Given the description of an element on the screen output the (x, y) to click on. 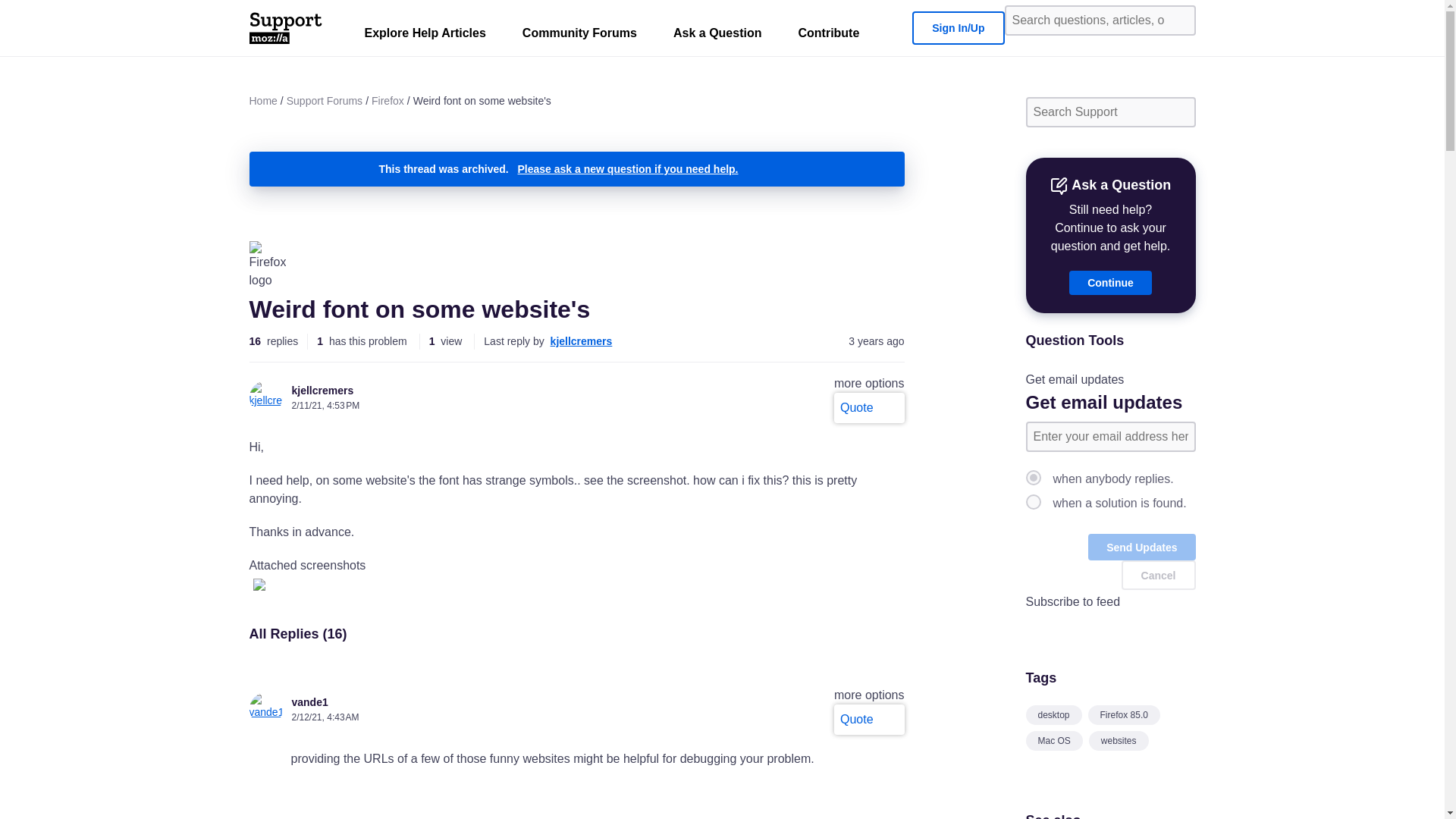
Ask a Question (716, 37)
Search (1178, 111)
Search (1178, 20)
Send Updates (1141, 546)
Community Forums (579, 37)
Explore Help Articles (424, 37)
